Given the description of an element on the screen output the (x, y) to click on. 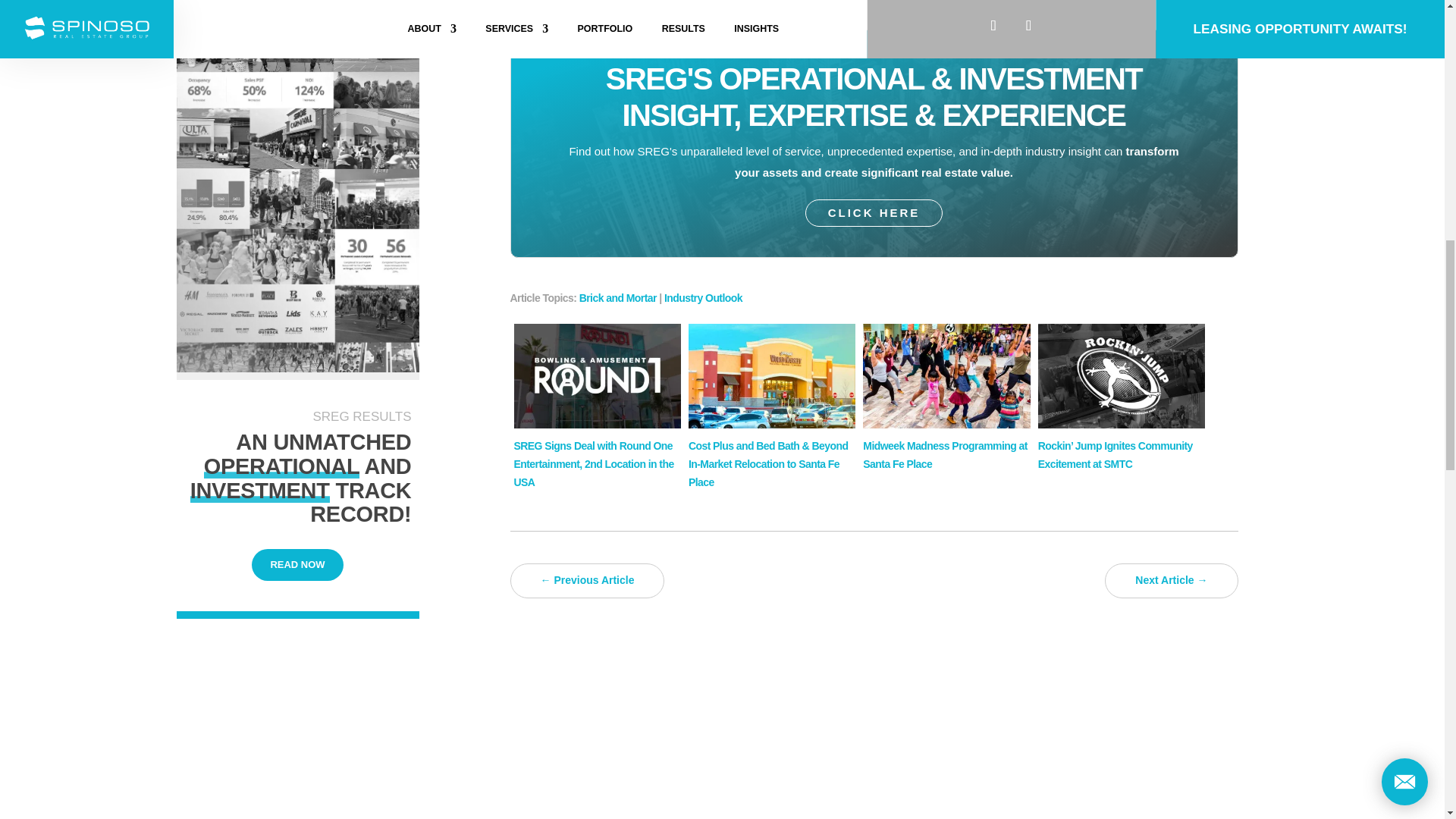
Midweek Madness Programming at Santa Fe Place (946, 424)
Midweek Madness Programming at Santa Fe Place (946, 455)
